Given the description of an element on the screen output the (x, y) to click on. 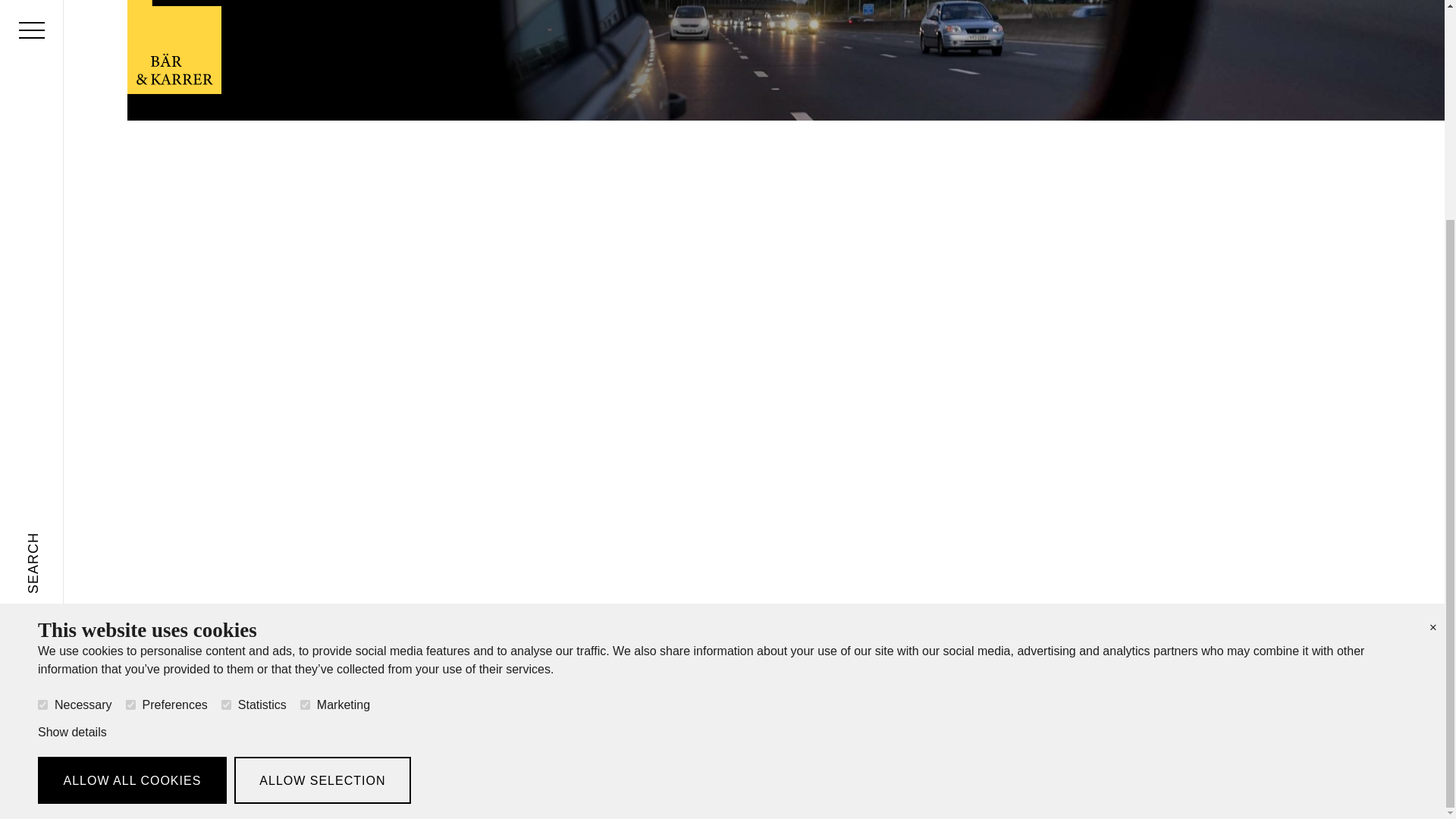
on (304, 413)
on (130, 413)
ALLOW ALL COOKIES (132, 489)
on (42, 413)
Show details (71, 440)
ALLOW SELECTION (322, 489)
on (226, 413)
